Given the description of an element on the screen output the (x, y) to click on. 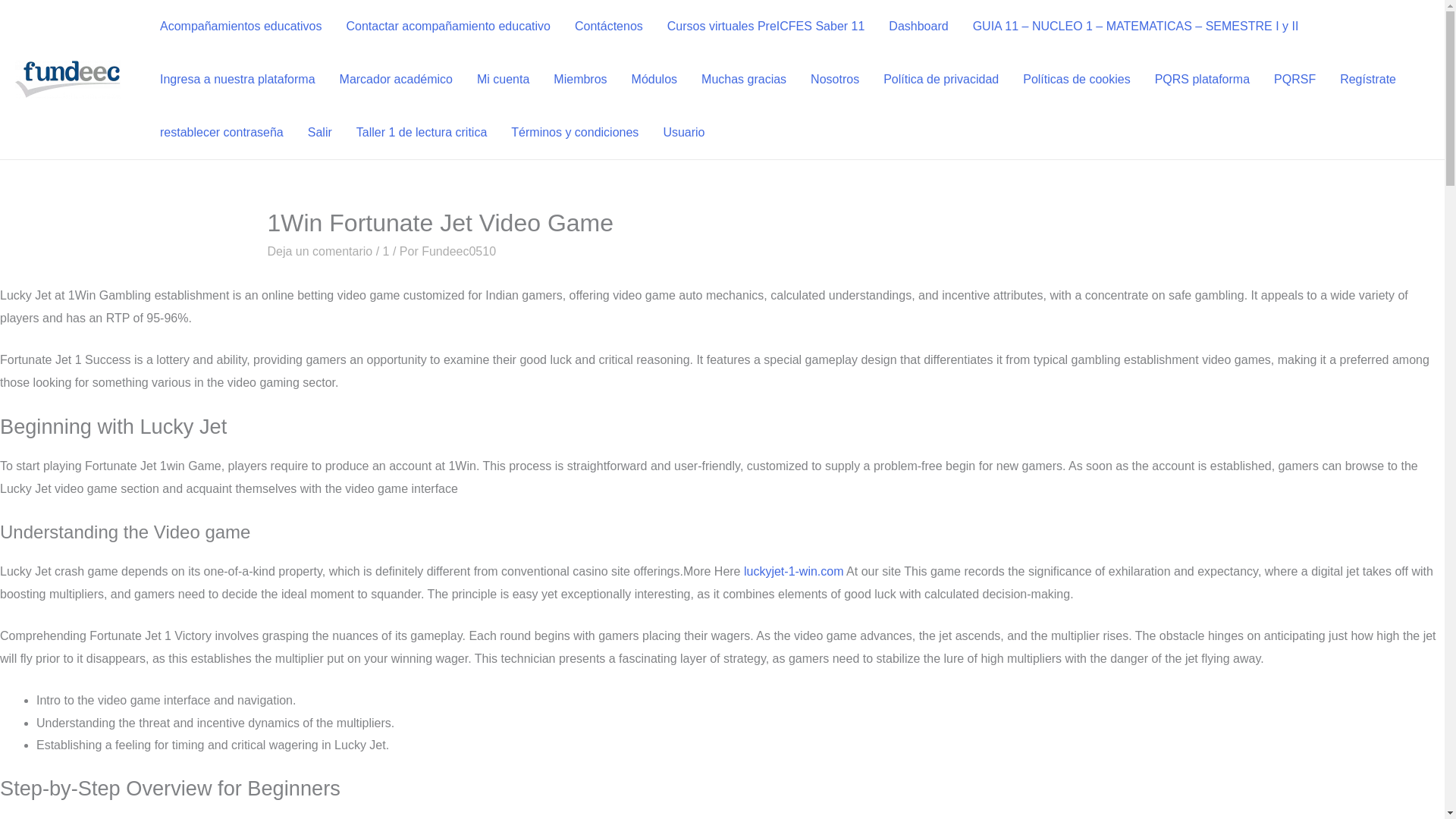
PQRS plataforma (1202, 79)
Nosotros (833, 79)
Taller 1 de lectura critica (421, 132)
Mi cuenta (502, 79)
Dashboard (917, 26)
Cursos virtuales PreICFES Saber 11 (766, 26)
Ingresa a nuestra plataforma (237, 79)
Miembros (579, 79)
Muchas gracias (742, 79)
PQRSF (1294, 79)
